Given the description of an element on the screen output the (x, y) to click on. 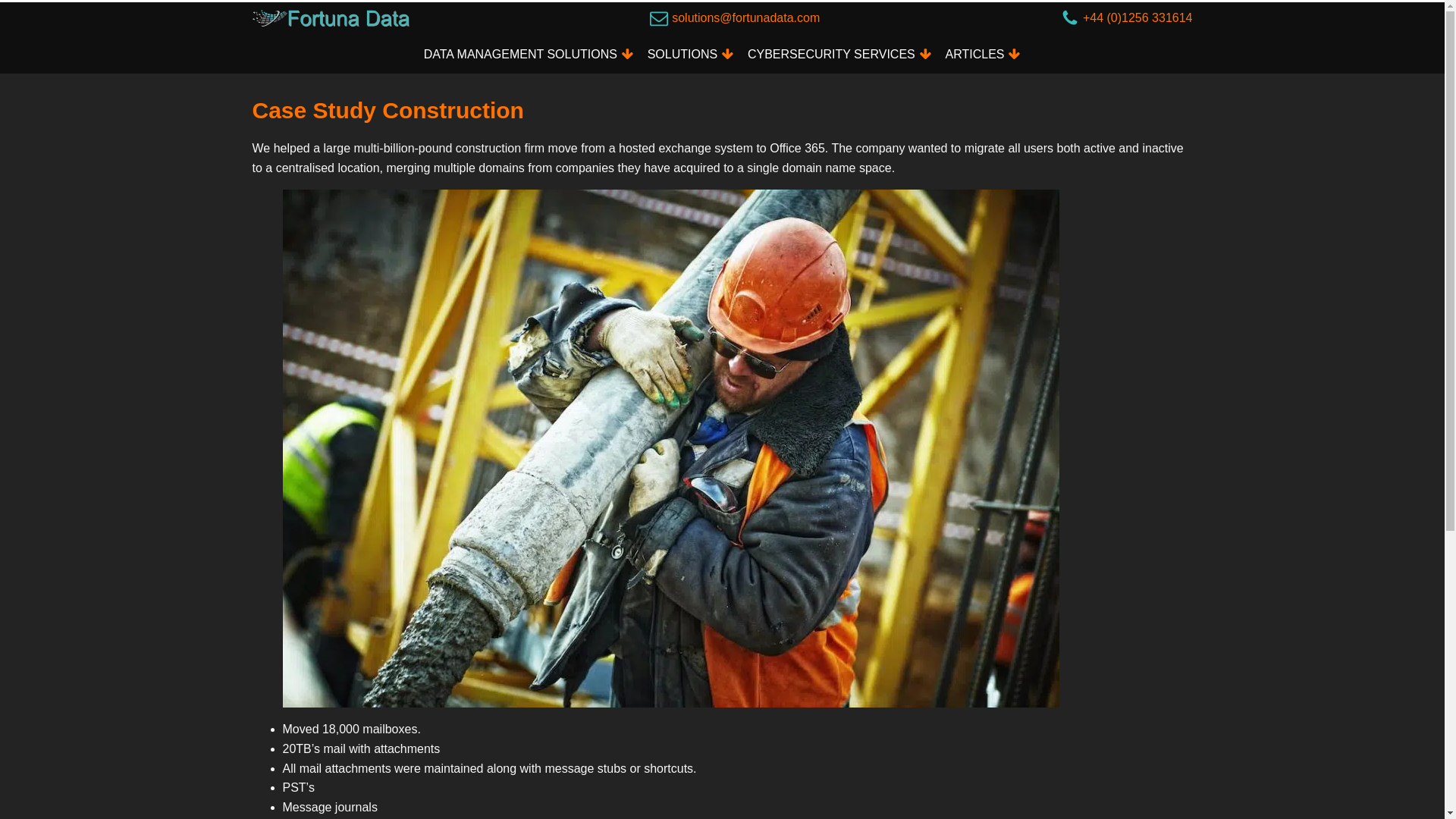
SOLUTIONS (690, 54)
ARTICLES (983, 54)
CYBERSECURITY SERVICES (840, 54)
DATA MANAGEMENT SOLUTIONS (528, 54)
